Given the description of an element on the screen output the (x, y) to click on. 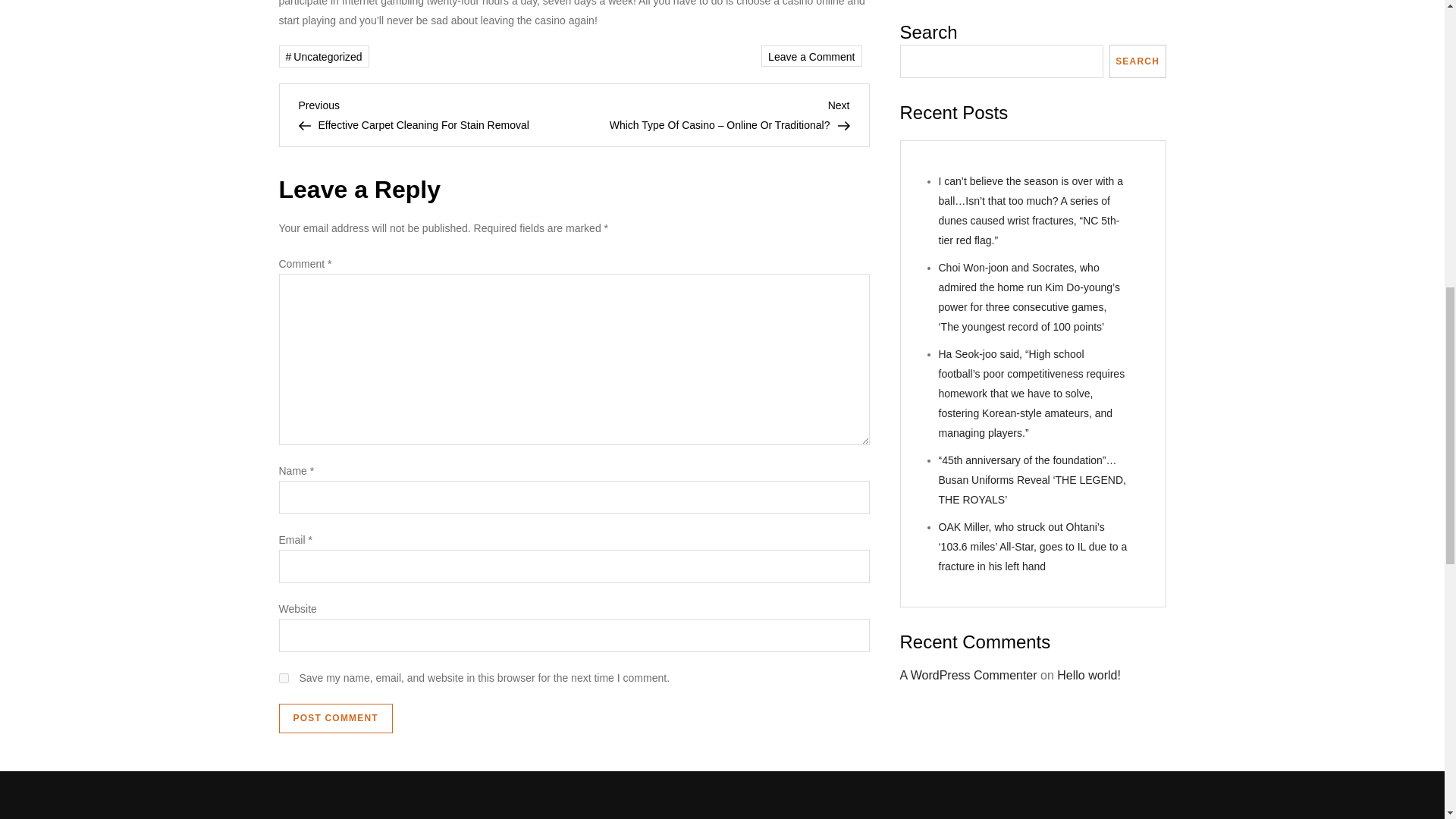
Post Comment (336, 718)
Post Comment (336, 718)
A WordPress Commenter (967, 7)
Hello world! (1089, 7)
Uncategorized (324, 56)
yes (283, 678)
